Given the description of an element on the screen output the (x, y) to click on. 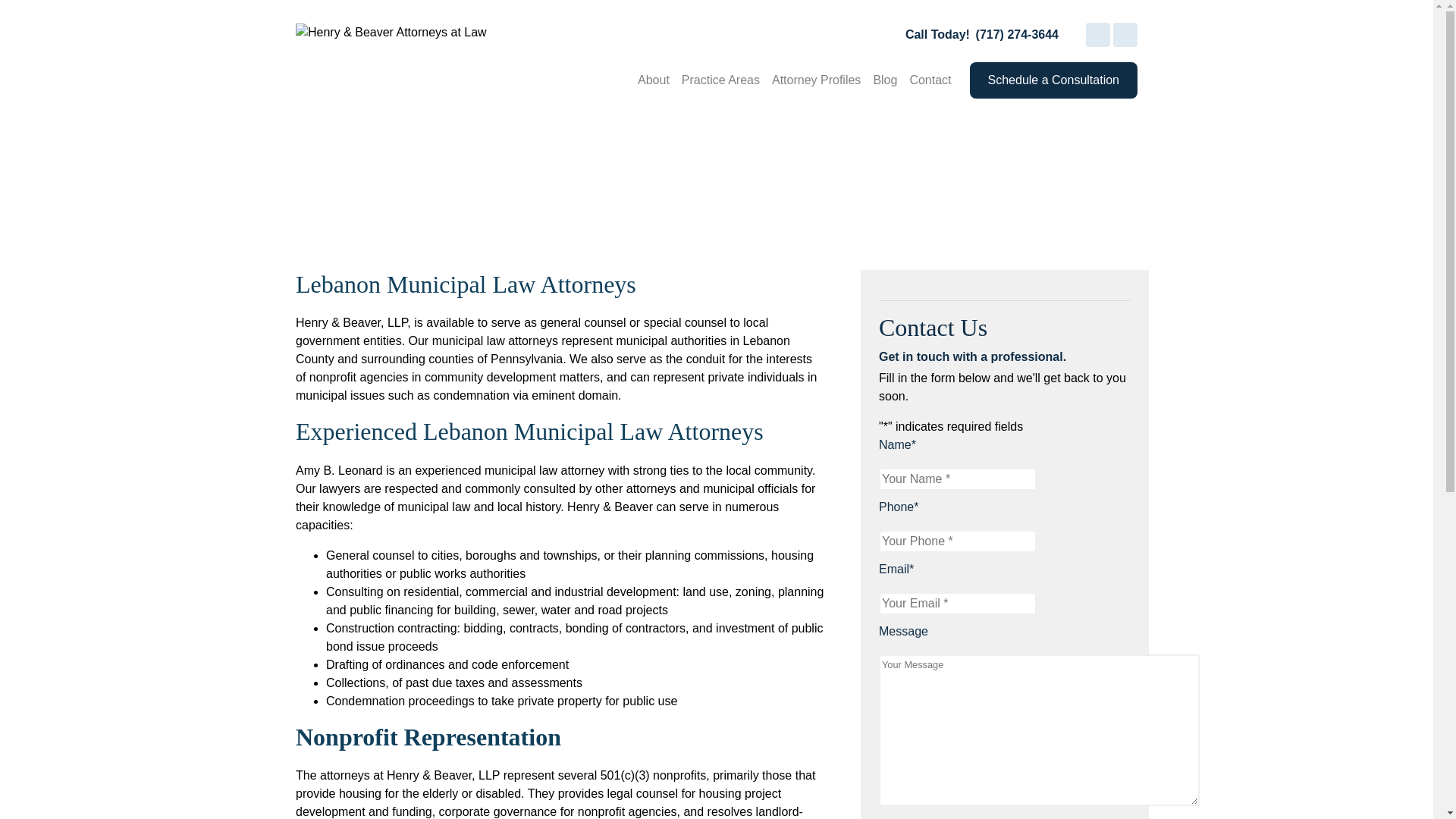
Amy B. Leonard (338, 470)
Schedule a Consultation (1053, 80)
Attorney Profiles (815, 80)
Practice Areas (720, 80)
About (653, 80)
Contact (929, 80)
Blog (884, 80)
